Given the description of an element on the screen output the (x, y) to click on. 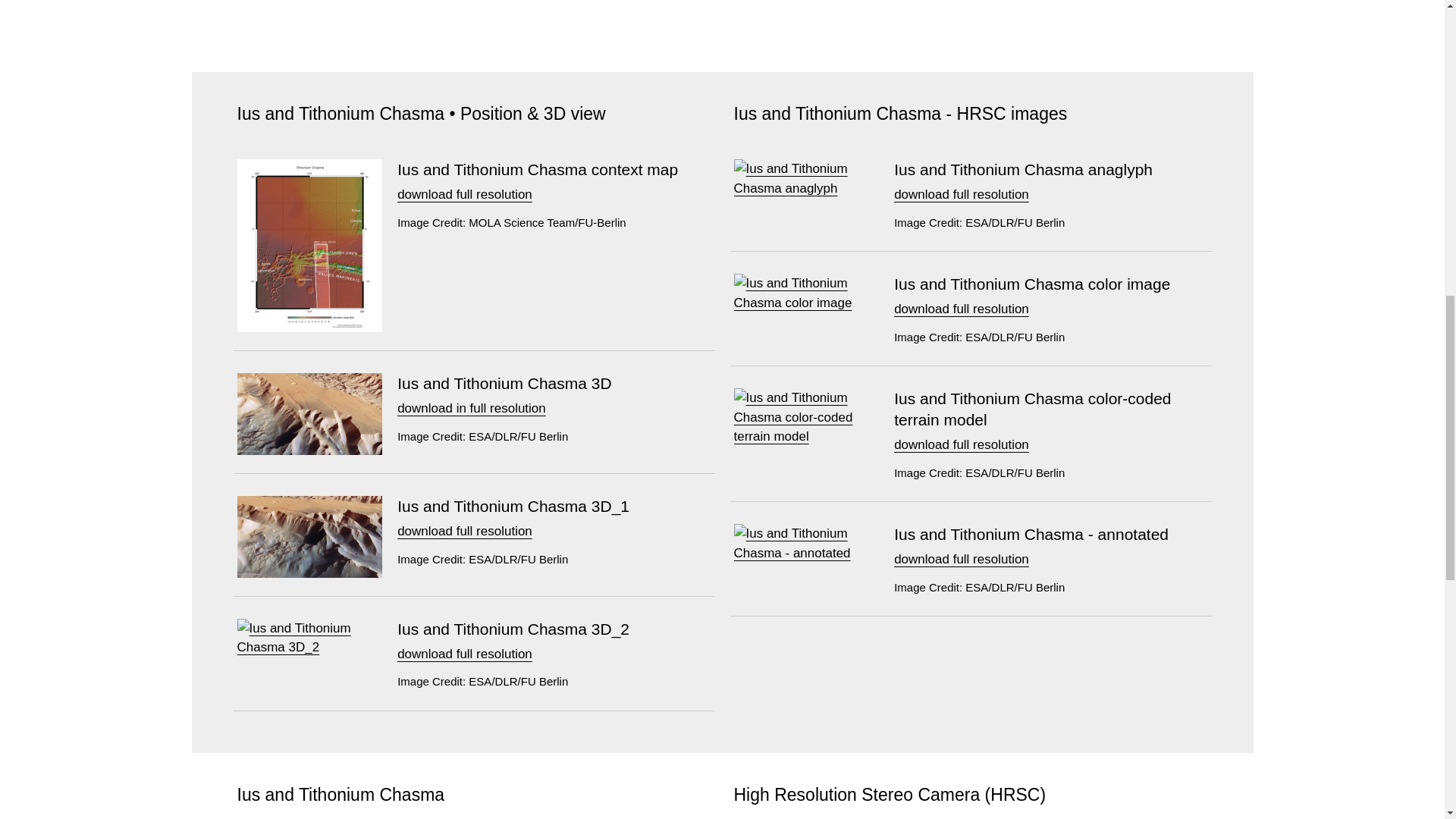
download in full resolution (471, 408)
download full resolution (464, 194)
download full resolution (464, 531)
